Given the description of an element on the screen output the (x, y) to click on. 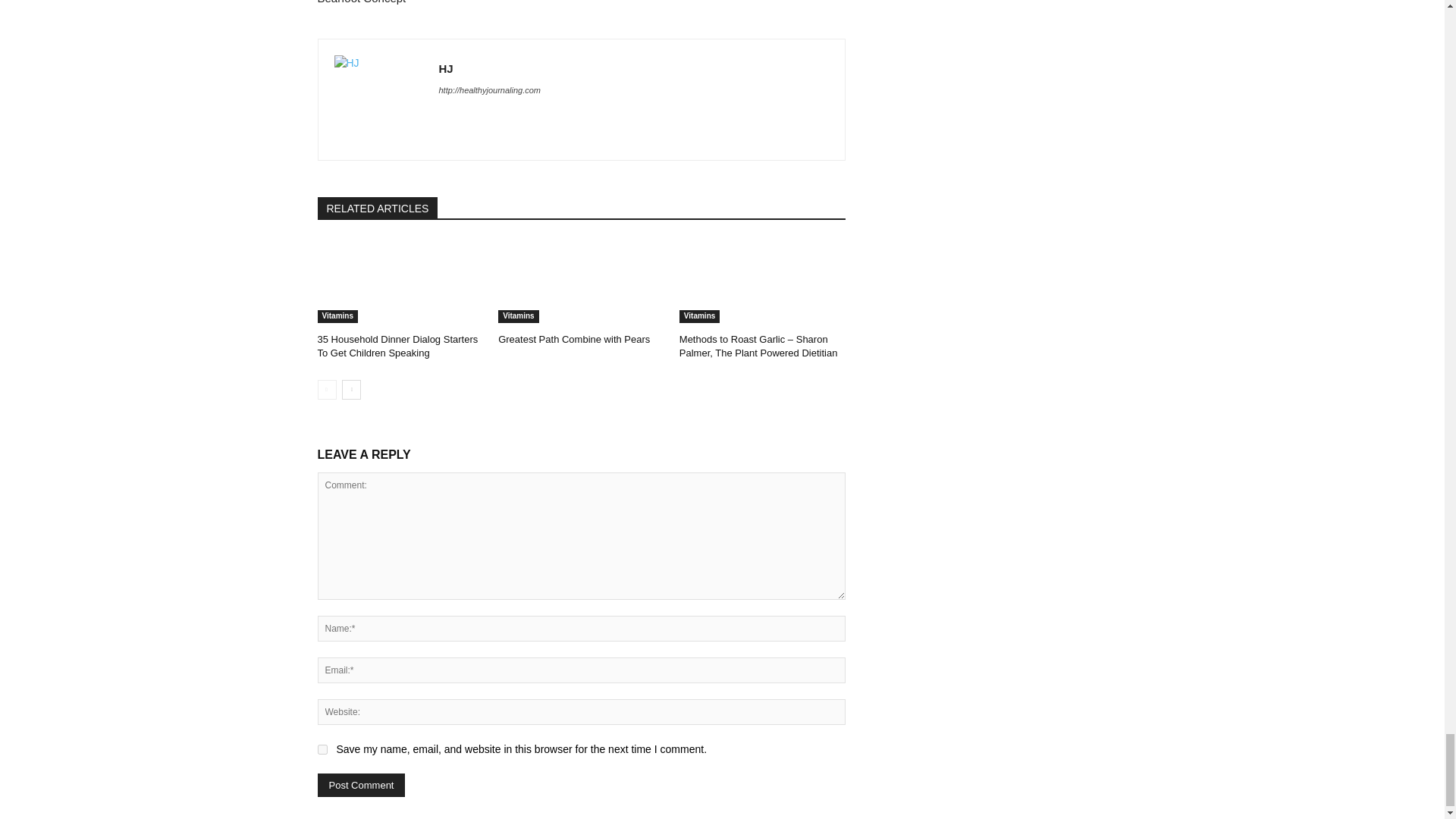
Greatest Path Combine with Pears (580, 280)
35 Household Dinner Dialog Starters To Get Children Speaking (397, 345)
HJ (377, 99)
Greatest Path Combine with Pears (573, 338)
yes (321, 749)
Post Comment (360, 784)
35 Household Dinner Dialog Starters To Get Children Speaking (400, 280)
